Given the description of an element on the screen output the (x, y) to click on. 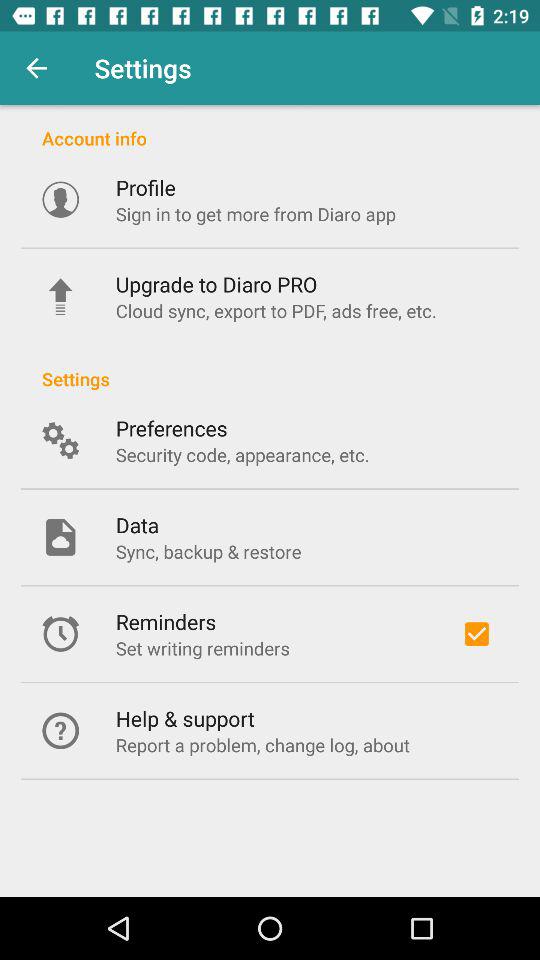
tap the item above report a problem icon (184, 718)
